Given the description of an element on the screen output the (x, y) to click on. 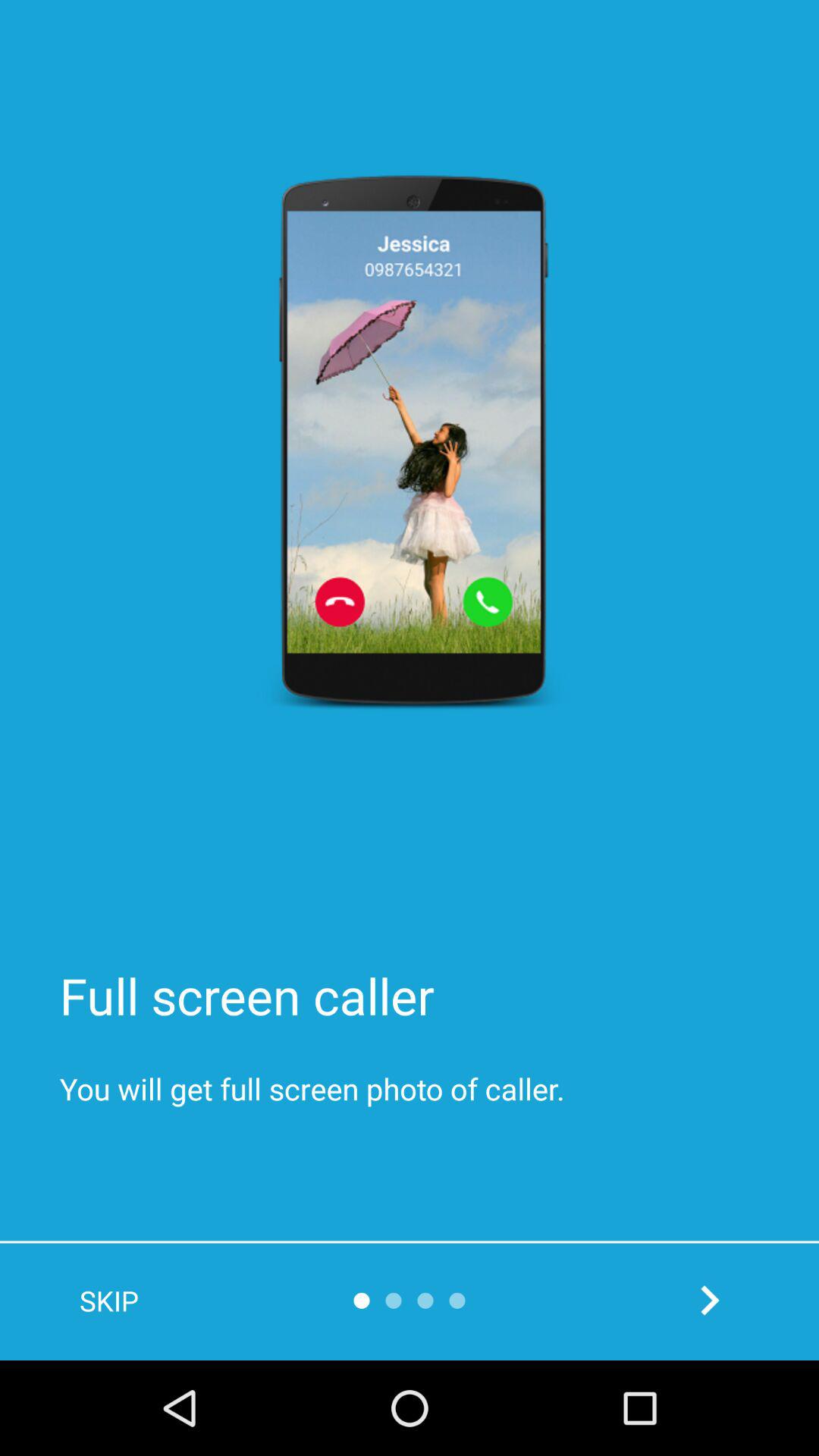
click the icon at the bottom right corner (709, 1300)
